Given the description of an element on the screen output the (x, y) to click on. 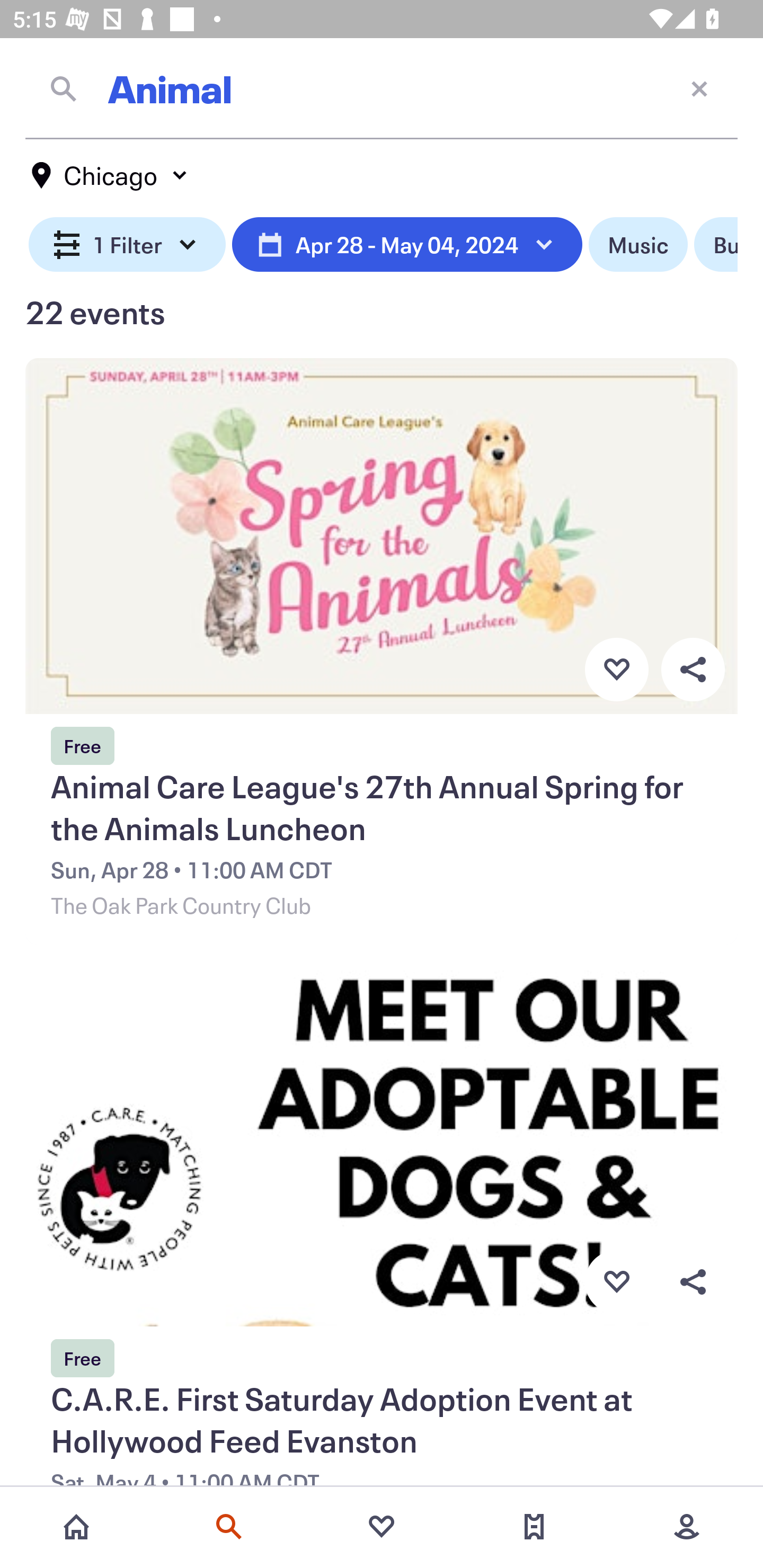
Animal Close current screen (381, 88)
Close current screen (699, 88)
Chicago (110, 175)
1 Filter (126, 244)
Apr 28 - May 04, 2024 (406, 244)
Music (638, 244)
Favorite button (616, 669)
Overflow menu button (692, 669)
Favorite button (616, 1281)
Overflow menu button (692, 1281)
Home (76, 1526)
Search events (228, 1526)
Favorites (381, 1526)
Tickets (533, 1526)
More (686, 1526)
